Given the description of an element on the screen output the (x, y) to click on. 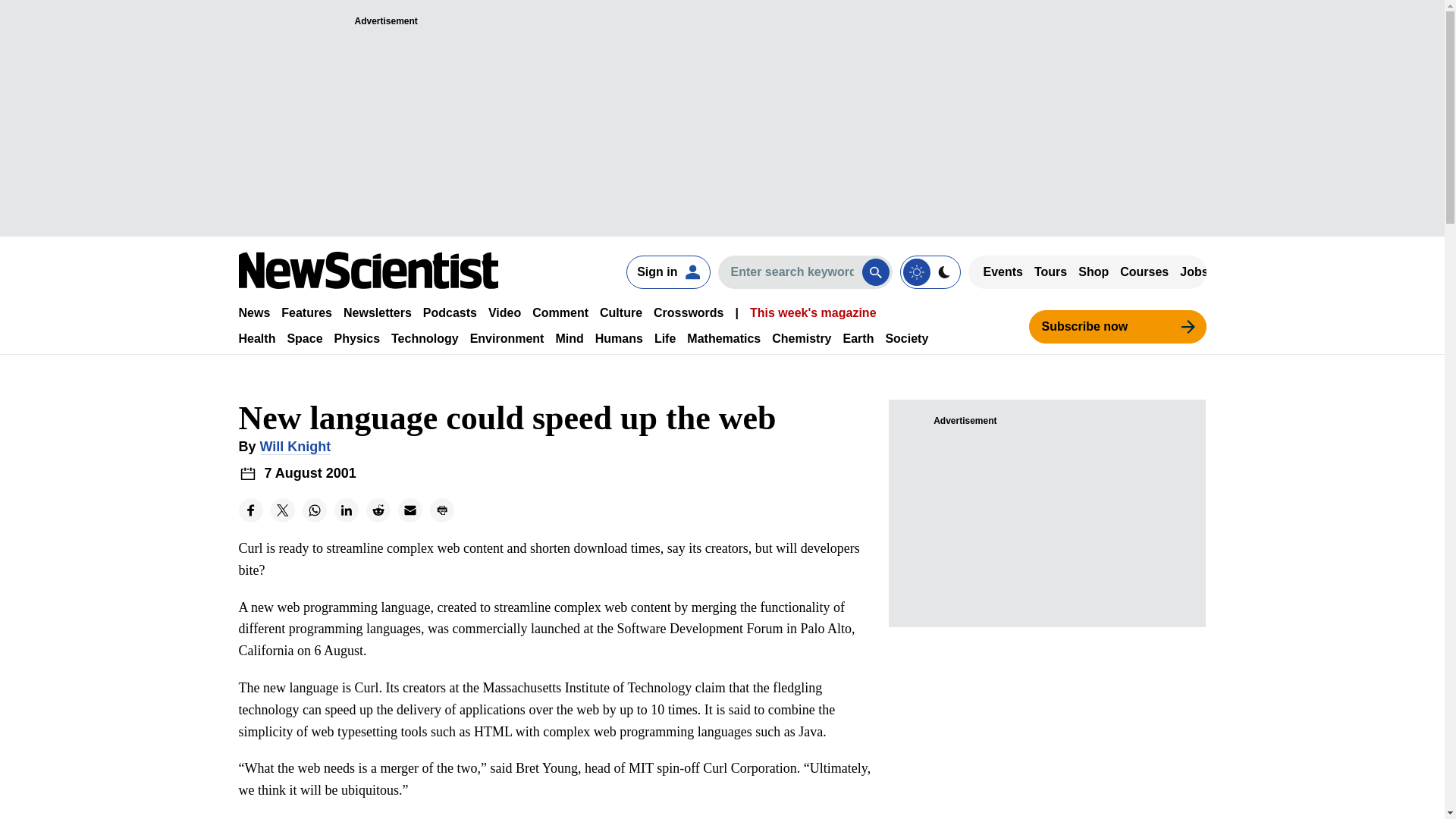
Technology (424, 338)
Events (1002, 272)
Mathematics (723, 338)
Culture (620, 313)
on (929, 272)
Health (256, 338)
Physics (357, 338)
Space (303, 338)
Mind (568, 338)
This week's magazine (812, 313)
